Given the description of an element on the screen output the (x, y) to click on. 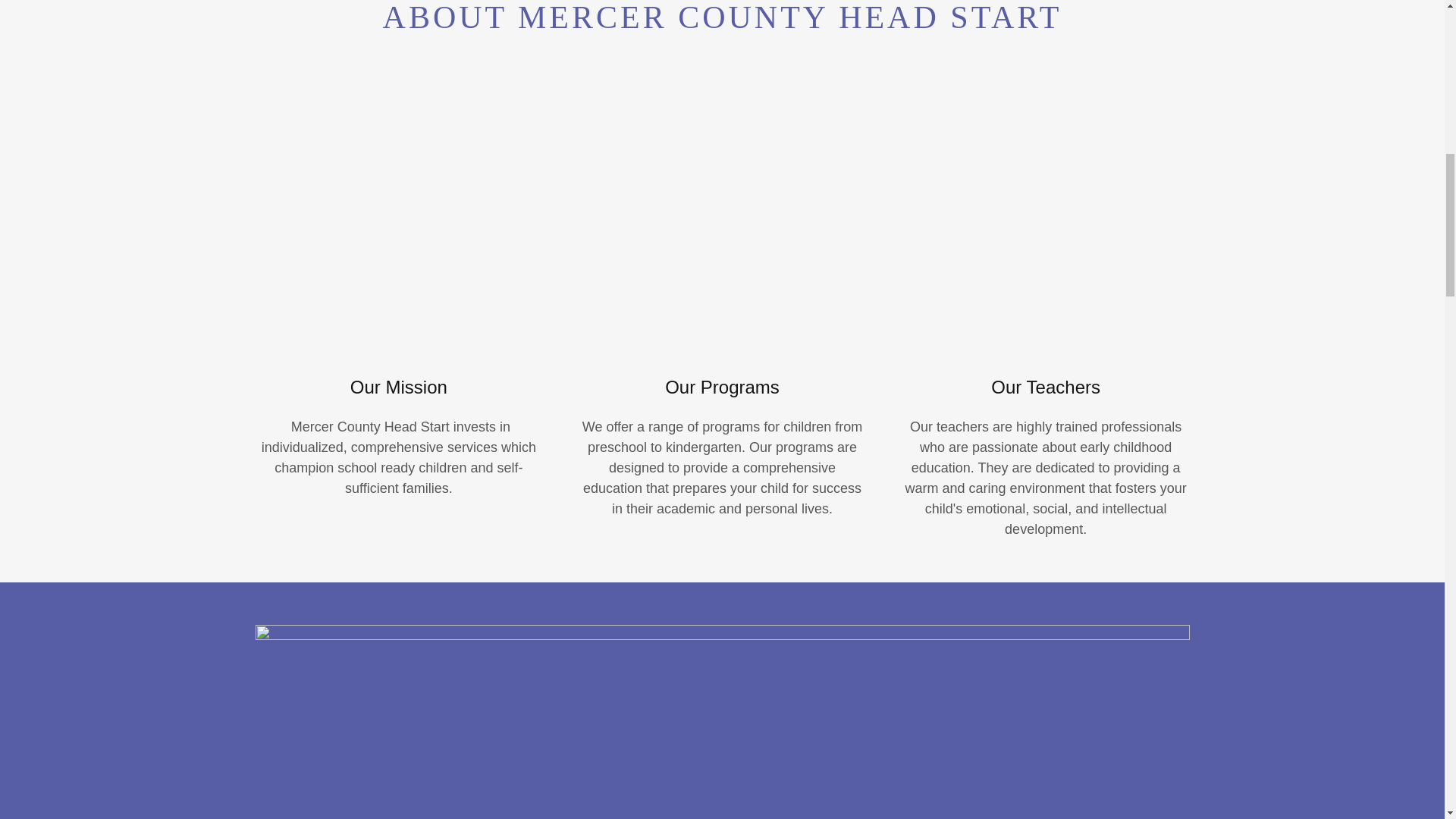
ACCEPT (1274, 324)
